Given the description of an element on the screen output the (x, y) to click on. 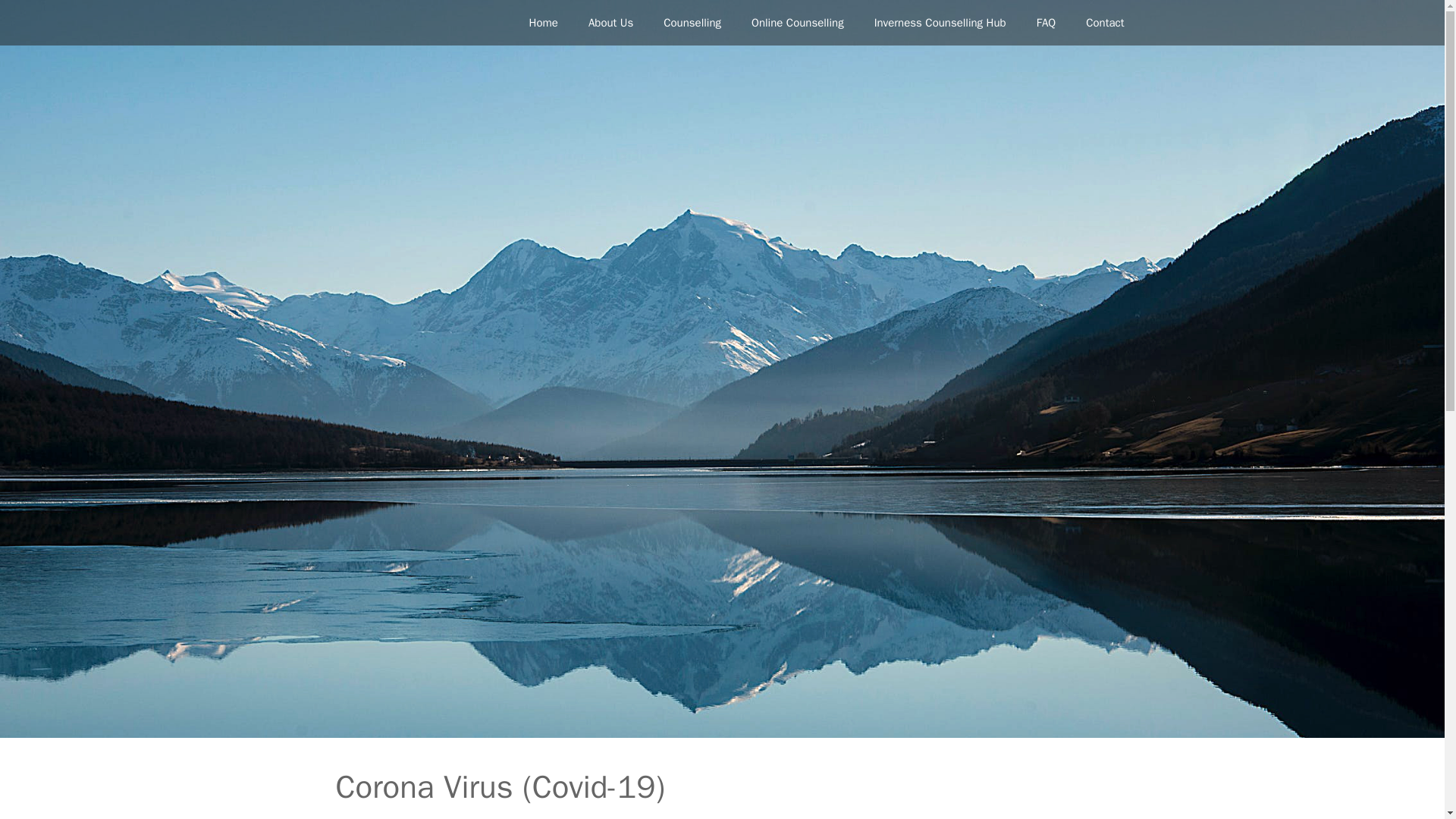
About Us (610, 22)
Counselling (691, 22)
Home (543, 22)
Online Counselling (797, 22)
Inverness Counselling Hub (940, 22)
FAQ (1046, 22)
Contact (1104, 22)
